Given the description of an element on the screen output the (x, y) to click on. 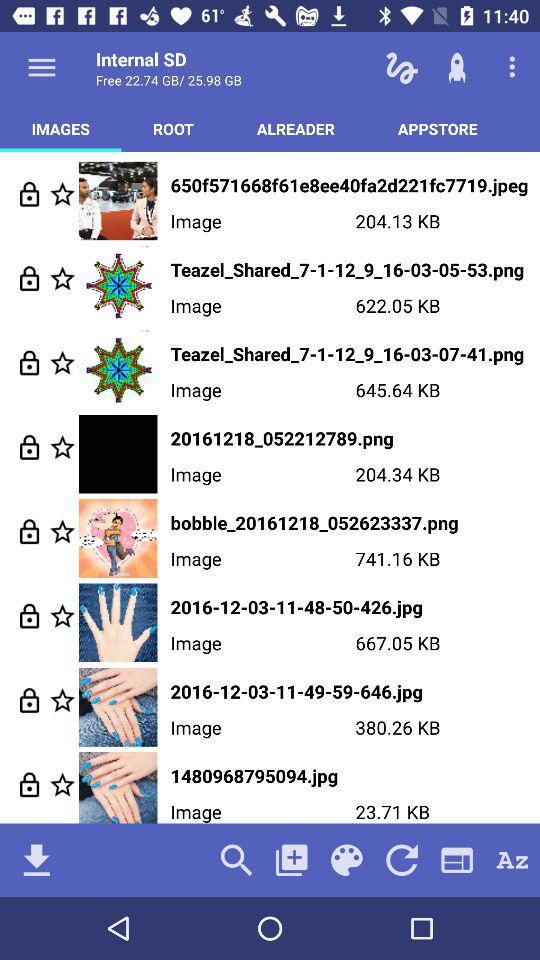
highlight the option (62, 531)
